Given the description of an element on the screen output the (x, y) to click on. 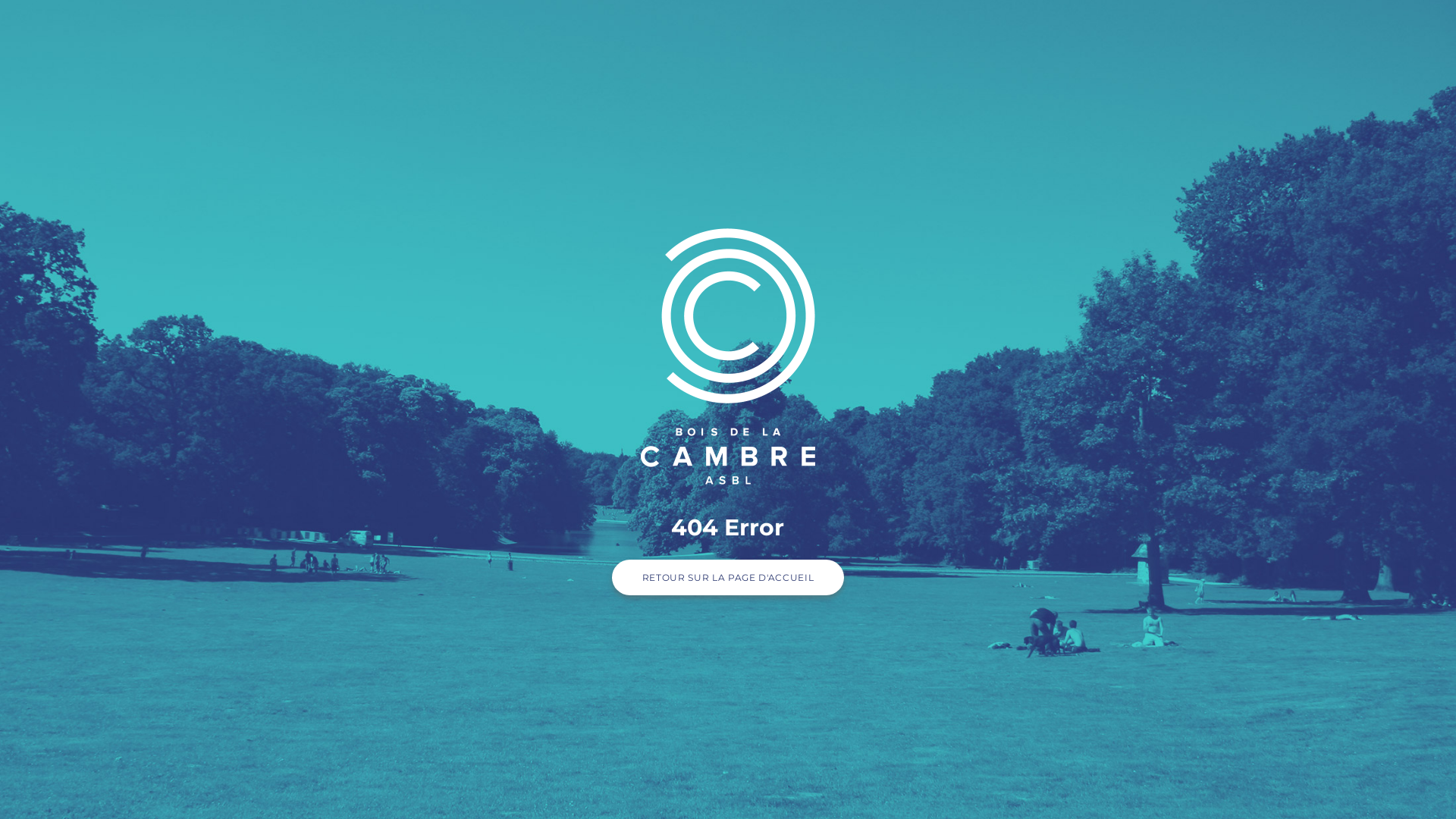
RETOUR SUR LA PAGE D'ACCUEIL Element type: text (727, 577)
